Given the description of an element on the screen output the (x, y) to click on. 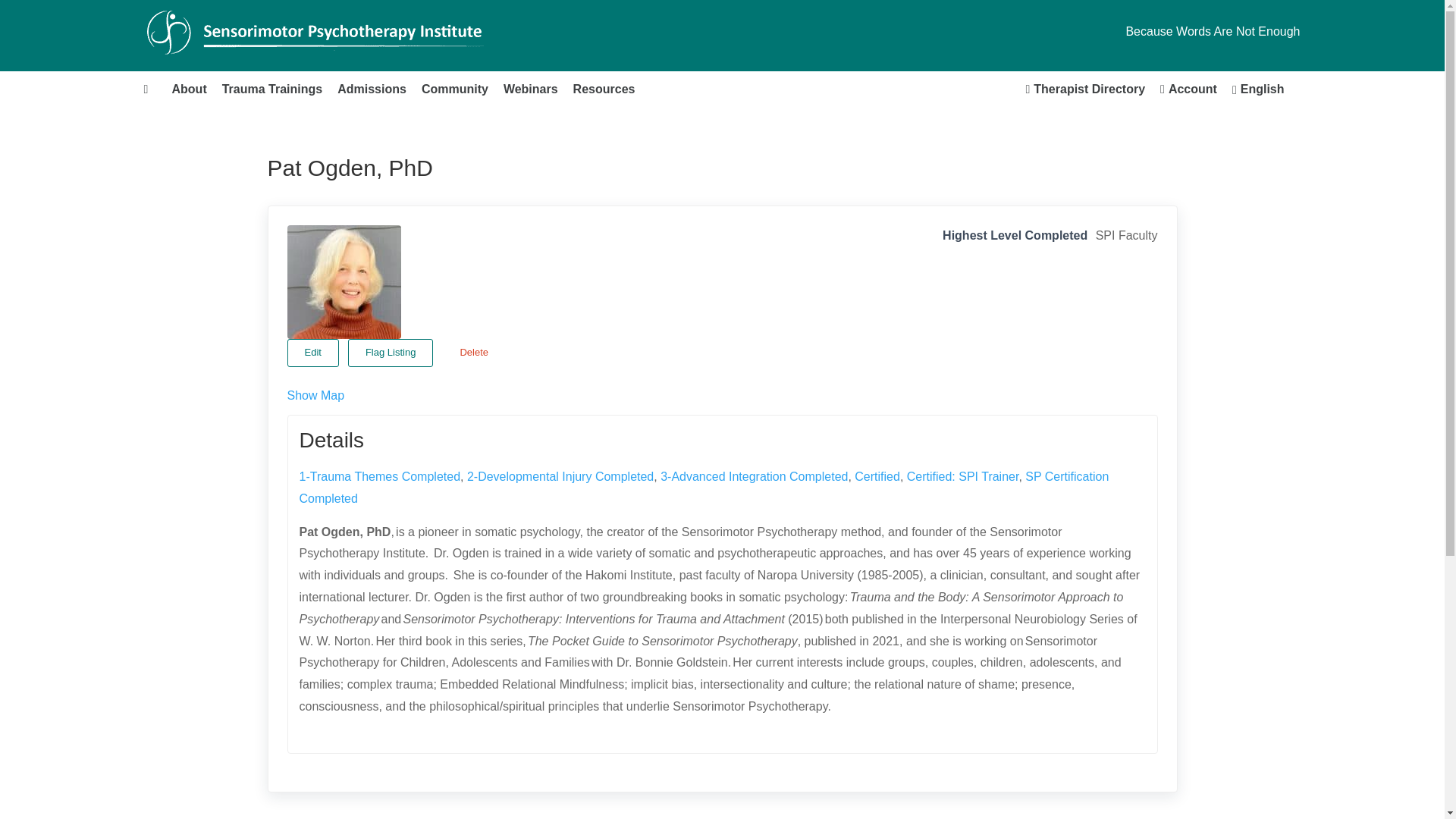
Flag Listing (389, 352)
1-Trauma Themes Completed (379, 476)
English (1258, 89)
Therapist Directory (1085, 89)
Admissions (371, 89)
Delete (473, 352)
Show Map (314, 395)
Account (1188, 89)
English (1258, 89)
Webinars (531, 89)
Resources (604, 89)
Pat Ogden, PhD (343, 282)
Community (454, 89)
2-Developmental Injury Completed (560, 476)
About (188, 89)
